Given the description of an element on the screen output the (x, y) to click on. 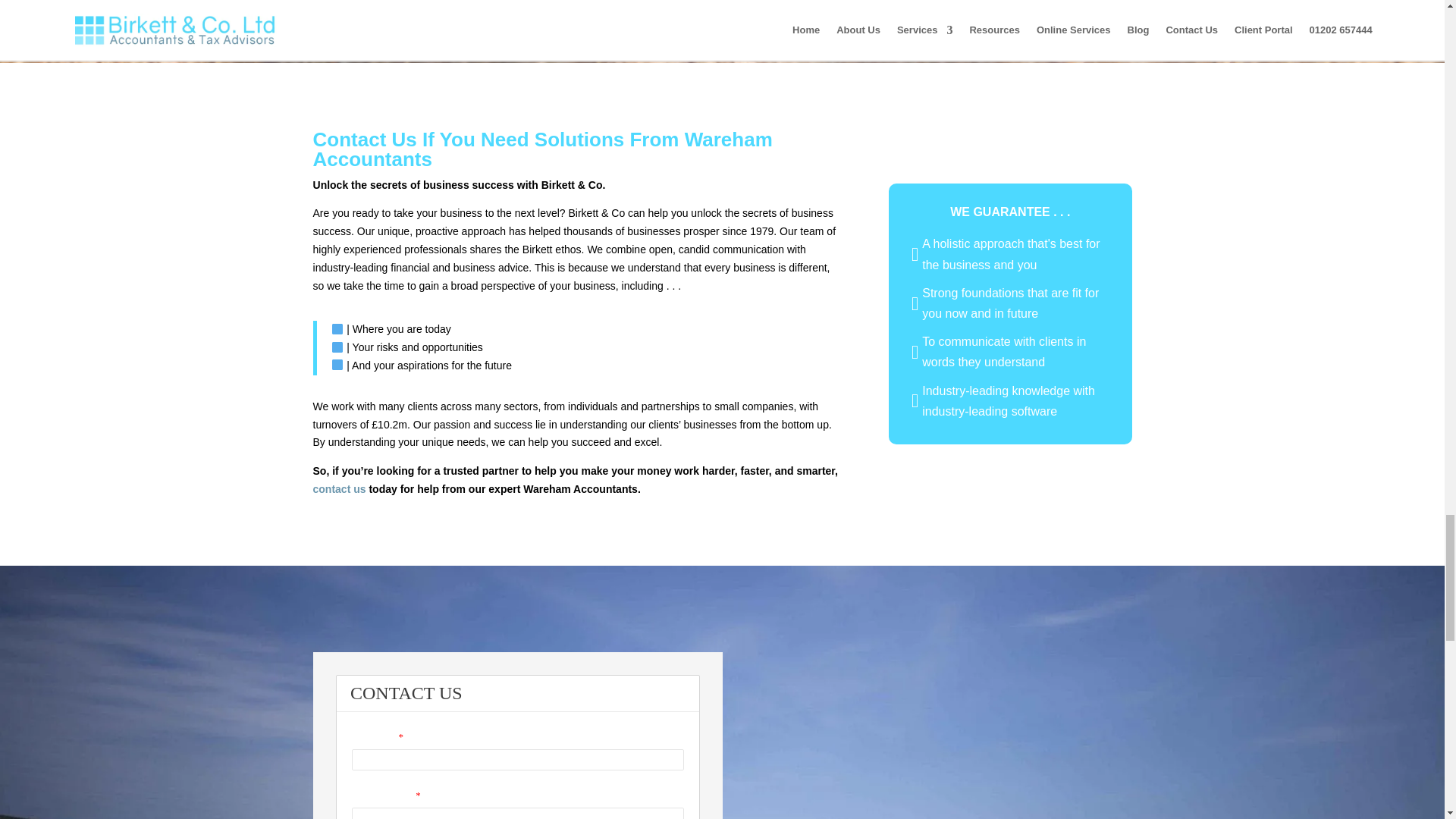
contact us (339, 489)
Contact Form (517, 735)
